Given the description of an element on the screen output the (x, y) to click on. 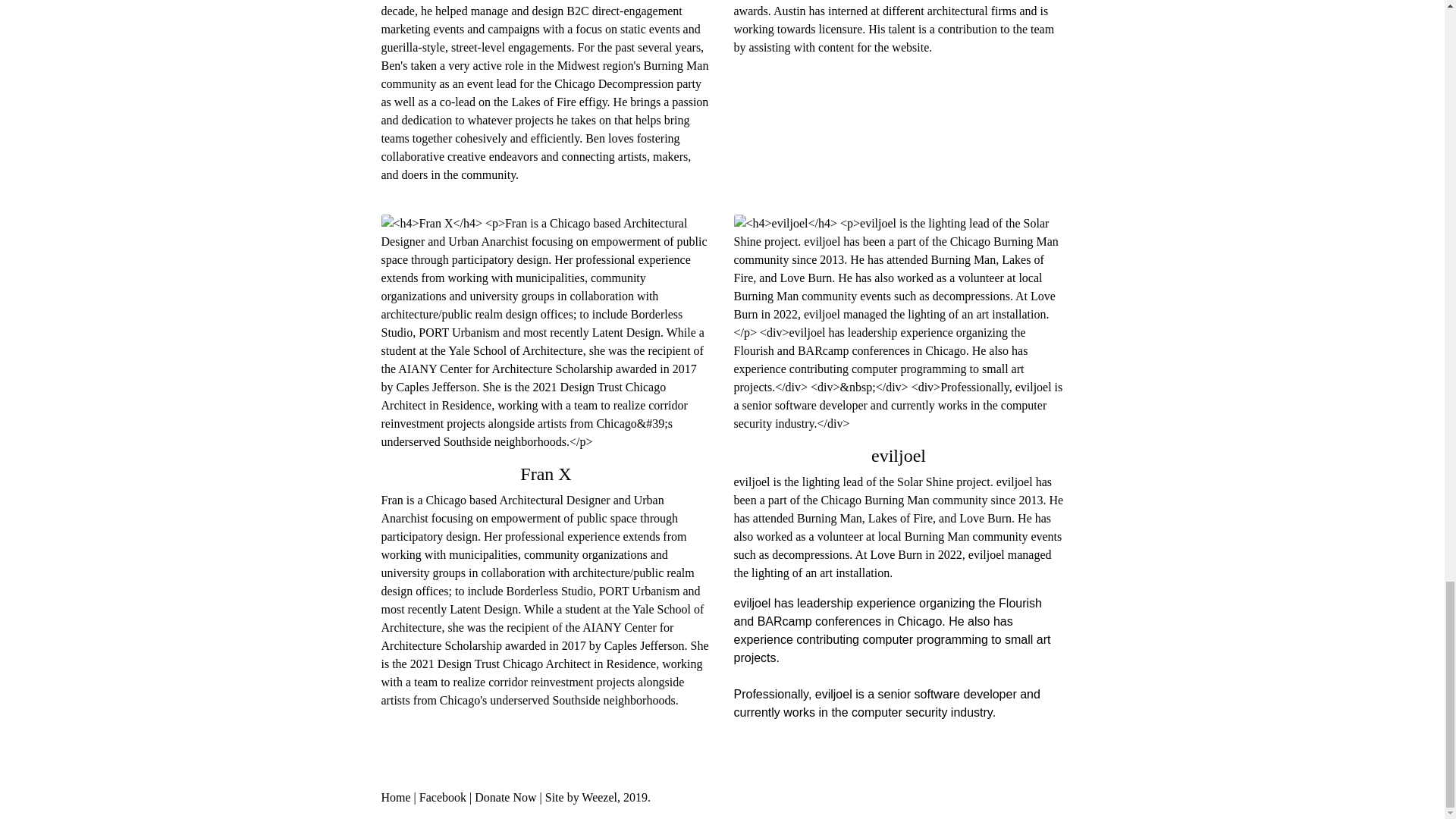
Home (395, 797)
Weezel (598, 797)
Facebook (443, 797)
Donate Now (504, 797)
